Given the description of an element on the screen output the (x, y) to click on. 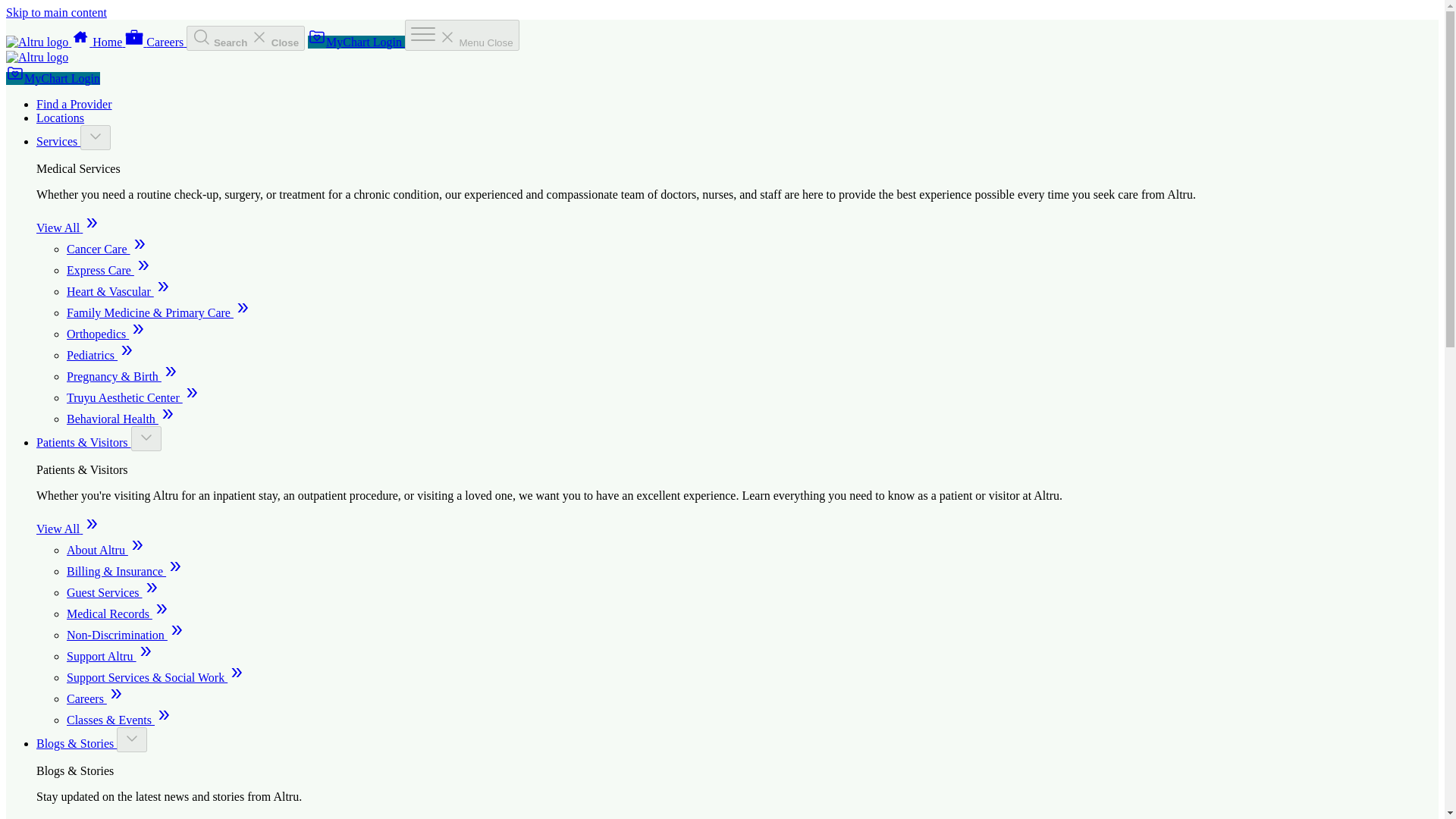
Menu Close (461, 34)
View All (68, 227)
MyChart Login (355, 42)
Orthopedics (106, 333)
Skip to main content (55, 11)
Careers (95, 698)
About Altru (106, 549)
Guest Services (113, 592)
Non-Discrimination (126, 634)
Express Care (109, 269)
Home (98, 42)
Support Altru (110, 656)
Behavioral Health (121, 418)
Cancer Care (107, 248)
MyChart Login (52, 78)
